Given the description of an element on the screen output the (x, y) to click on. 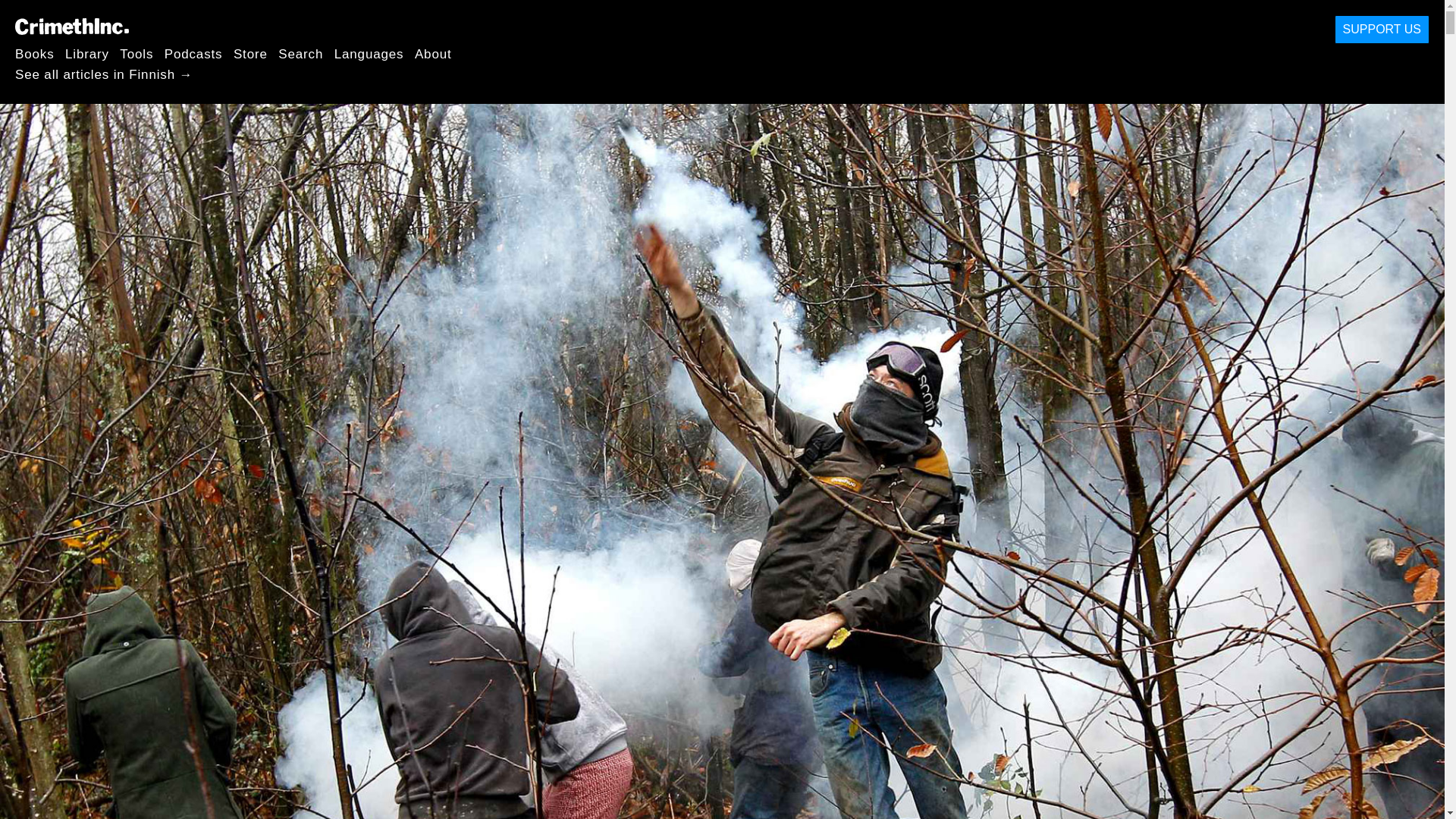
Tools (135, 53)
Books (34, 53)
Library (87, 53)
About (432, 53)
Languages (369, 53)
Podcasts (193, 53)
CrimethInc. (71, 26)
Store (249, 53)
Search (300, 53)
SUPPORT US (1382, 29)
